Given the description of an element on the screen output the (x, y) to click on. 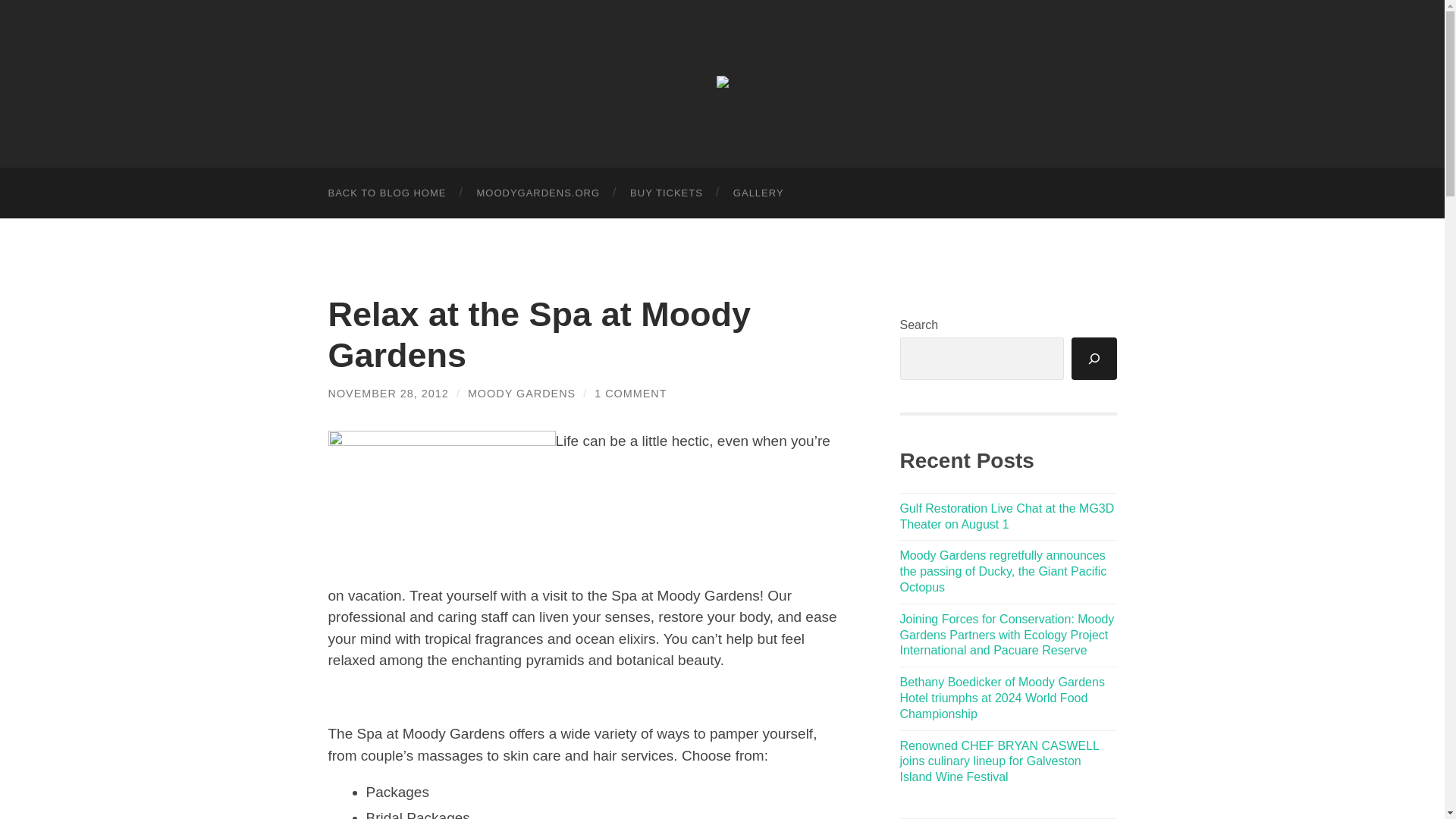
Gulf Restoration Live Chat at the MG3D Theater on August 1 (1006, 516)
BUY TICKETS (665, 192)
1 COMMENT (630, 393)
Posts by Moody Gardens (521, 393)
GALLERY (758, 192)
MOODYGARDENS.ORG (537, 192)
